Given the description of an element on the screen output the (x, y) to click on. 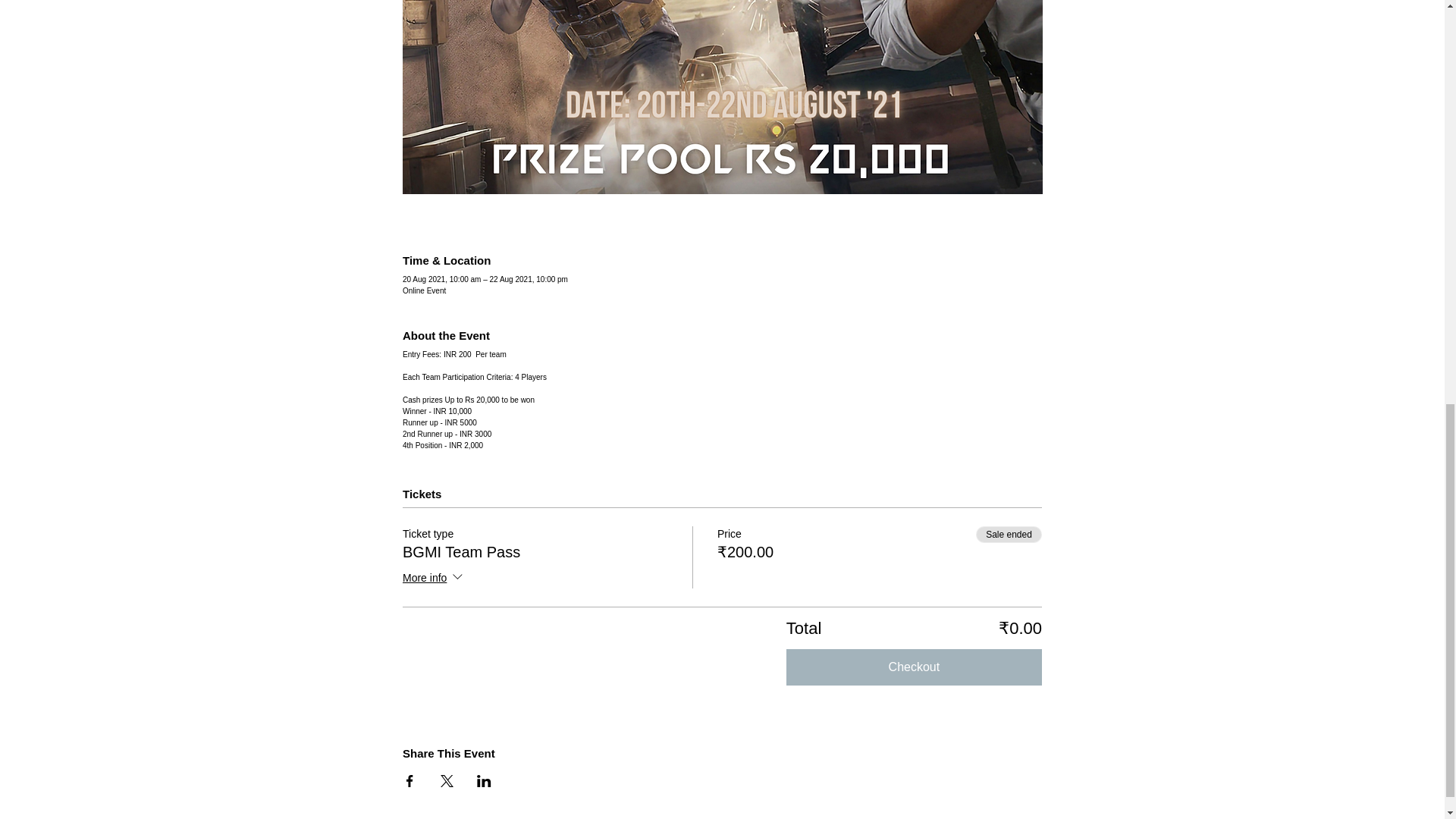
Checkout (914, 667)
More info (434, 578)
